Given the description of an element on the screen output the (x, y) to click on. 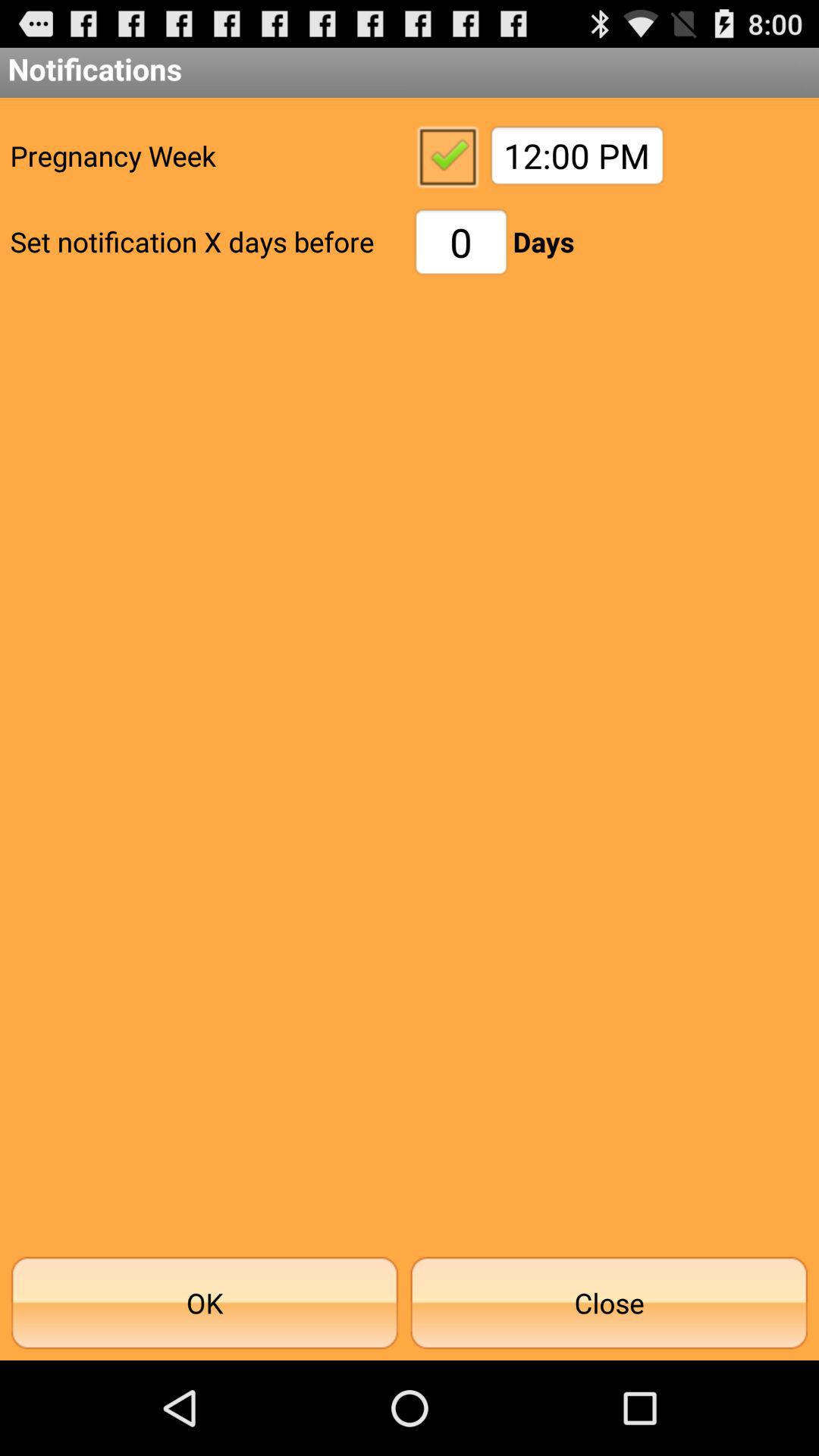
open the close icon (608, 1302)
